Given the description of an element on the screen output the (x, y) to click on. 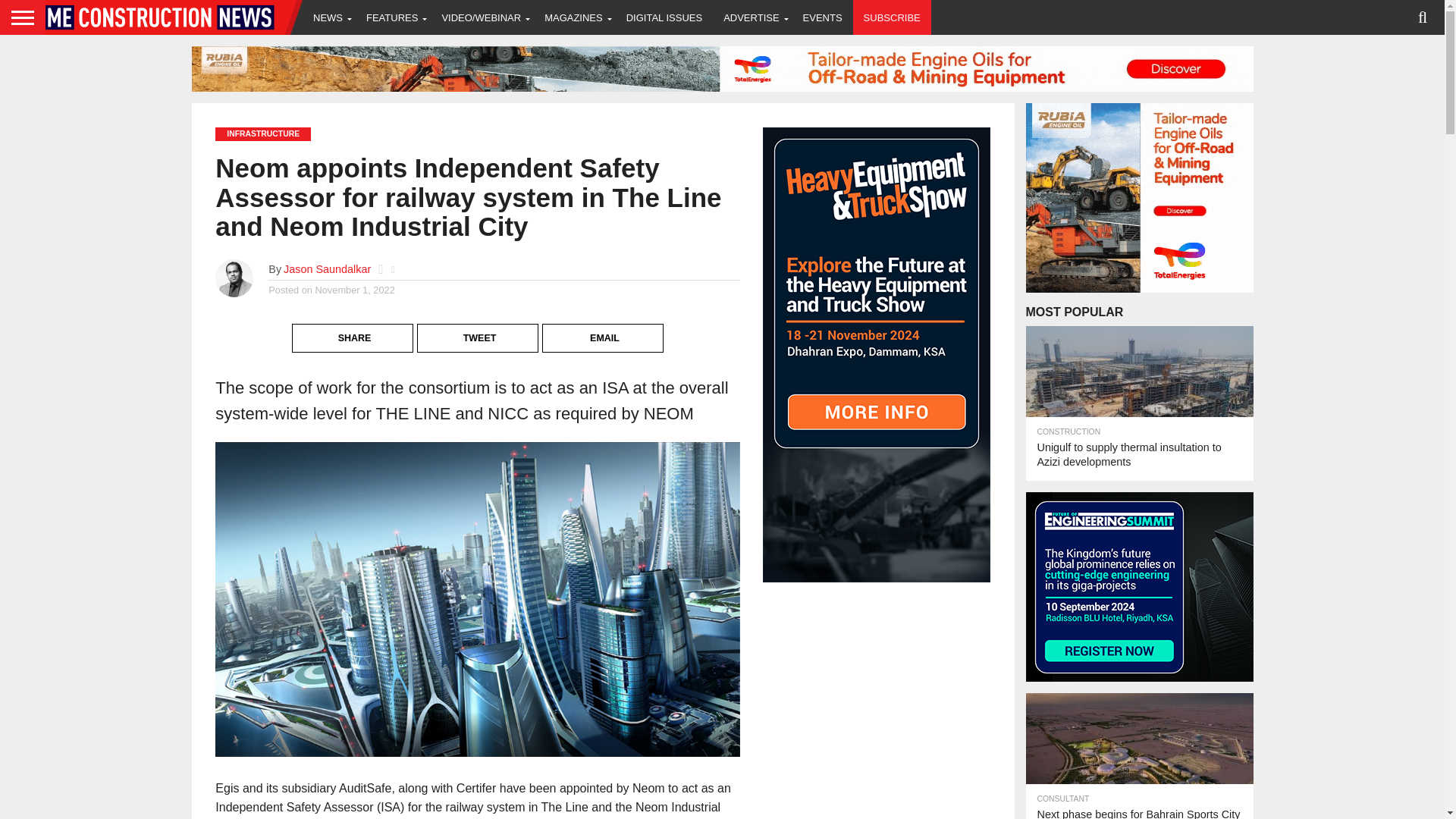
Tweet This Post (477, 325)
Share on Facebook (352, 325)
Posts by Jason Saundalkar (327, 268)
NEWS (328, 17)
